Given the description of an element on the screen output the (x, y) to click on. 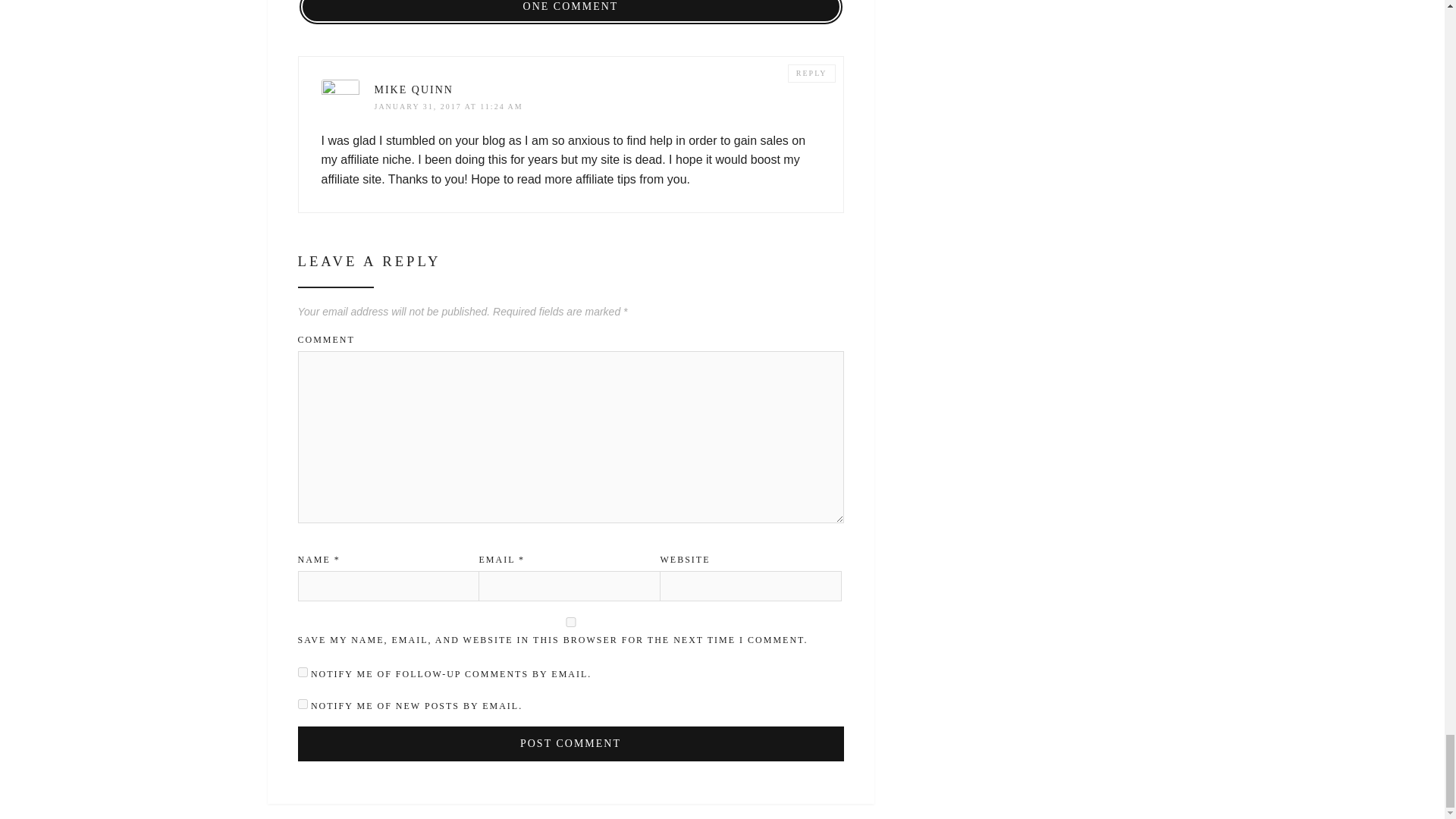
Post Comment (570, 743)
subscribe (302, 672)
yes (570, 622)
subscribe (302, 704)
